Given the description of an element on the screen output the (x, y) to click on. 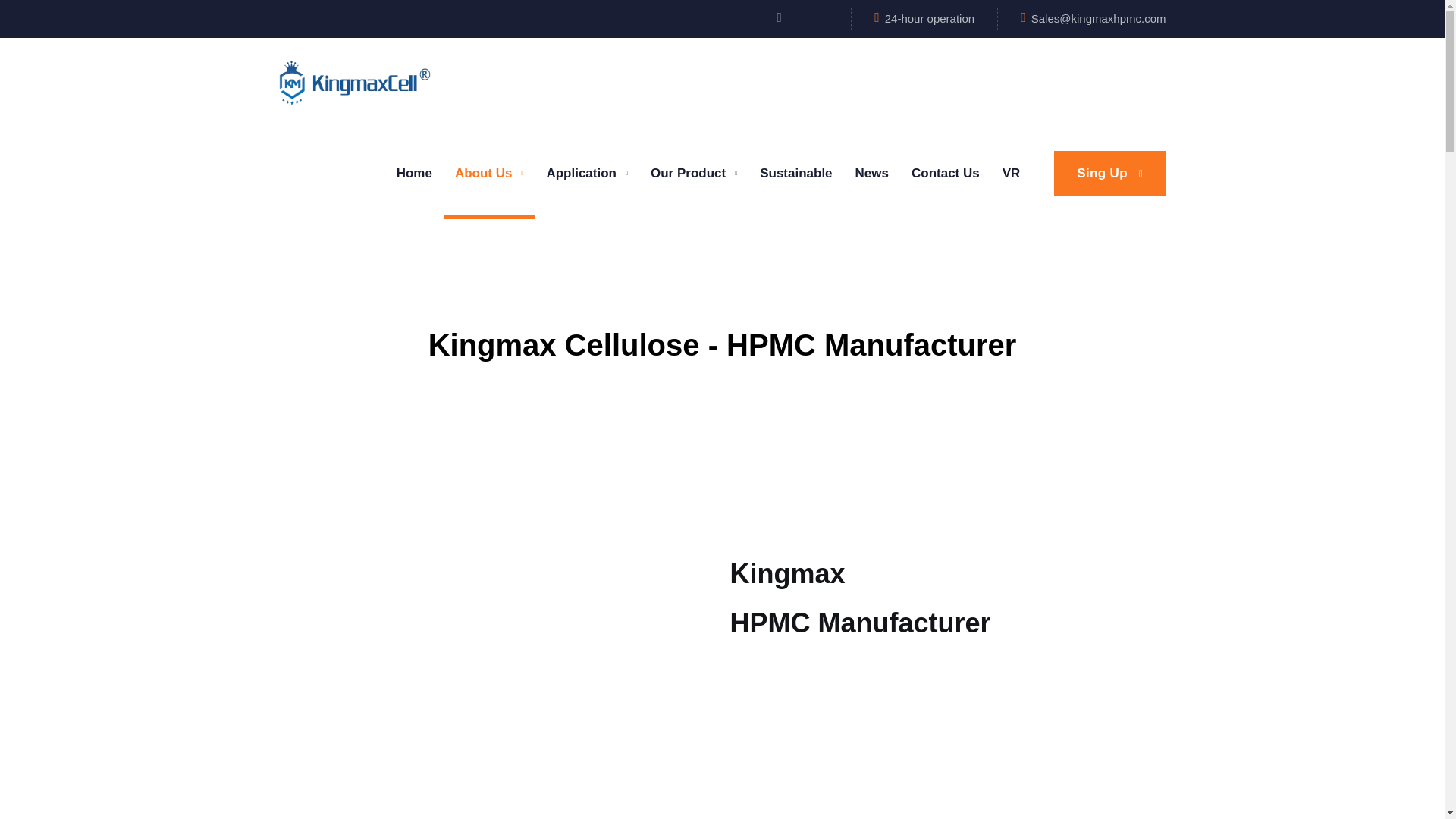
Home (414, 173)
kingmaxhpmc.com (354, 81)
About Us (489, 173)
Our Product (693, 173)
Home (414, 173)
Application (586, 173)
Sing Up (1110, 173)
Sustainable (795, 173)
Contact Us (945, 173)
News (872, 173)
